Given the description of an element on the screen output the (x, y) to click on. 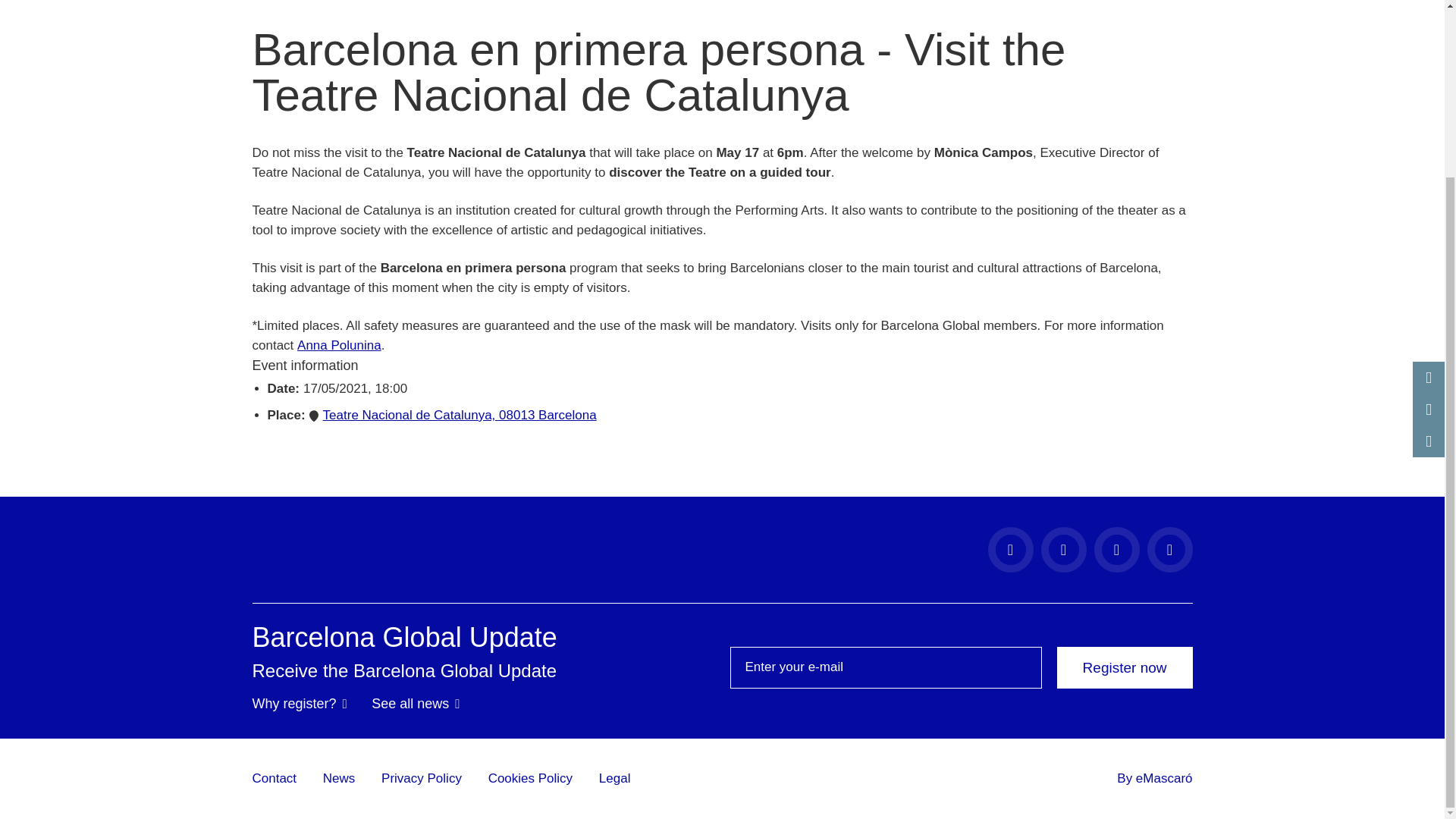
Register now (1124, 667)
Instagram (1063, 549)
Twitter (1115, 549)
Facebook (1009, 549)
LinkedIn (1169, 549)
